Given the description of an element on the screen output the (x, y) to click on. 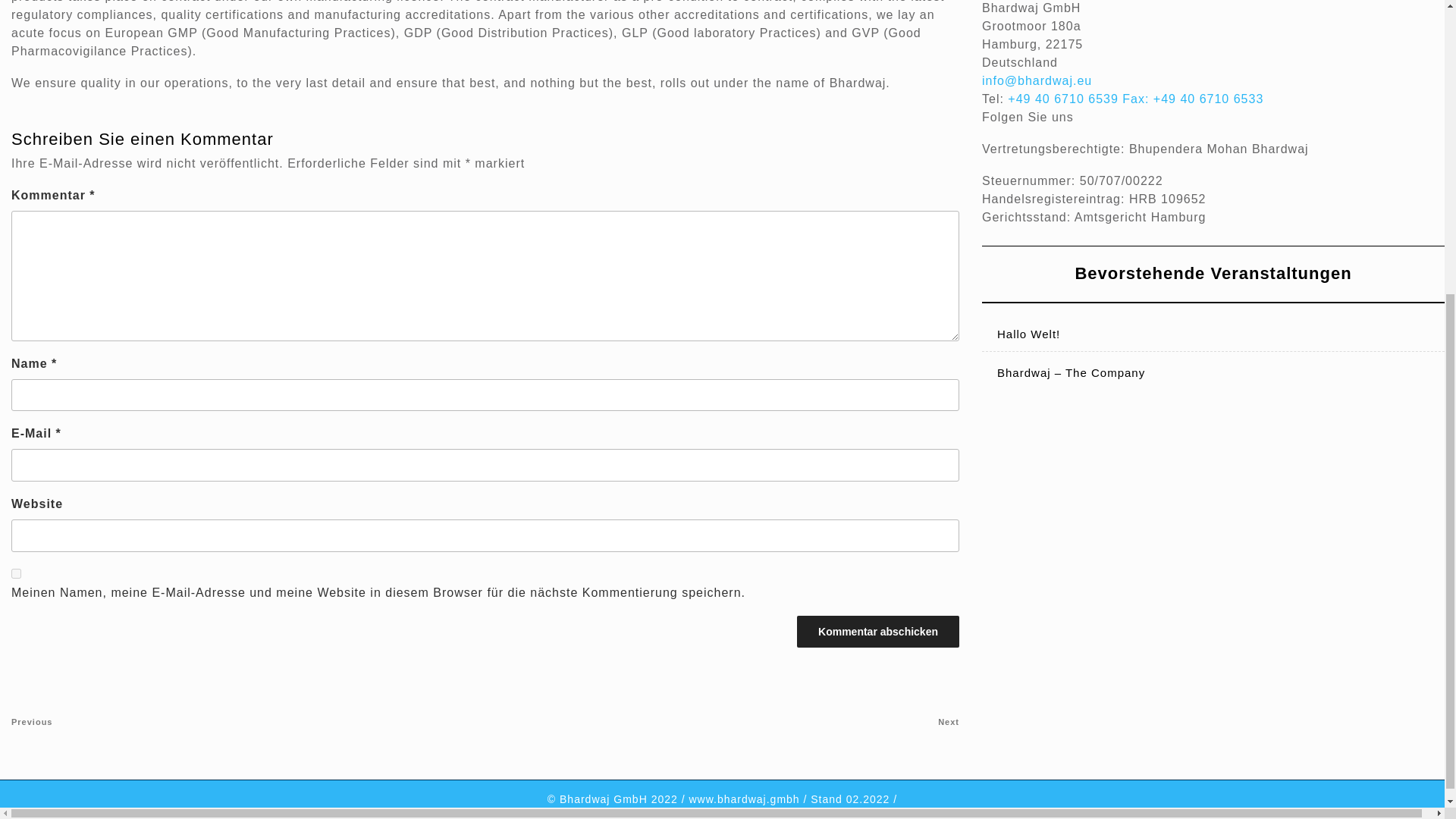
Kommentar abschicken (877, 631)
Kommentar abschicken (877, 631)
Hallo Welt! (1028, 333)
yes (16, 573)
